Given the description of an element on the screen output the (x, y) to click on. 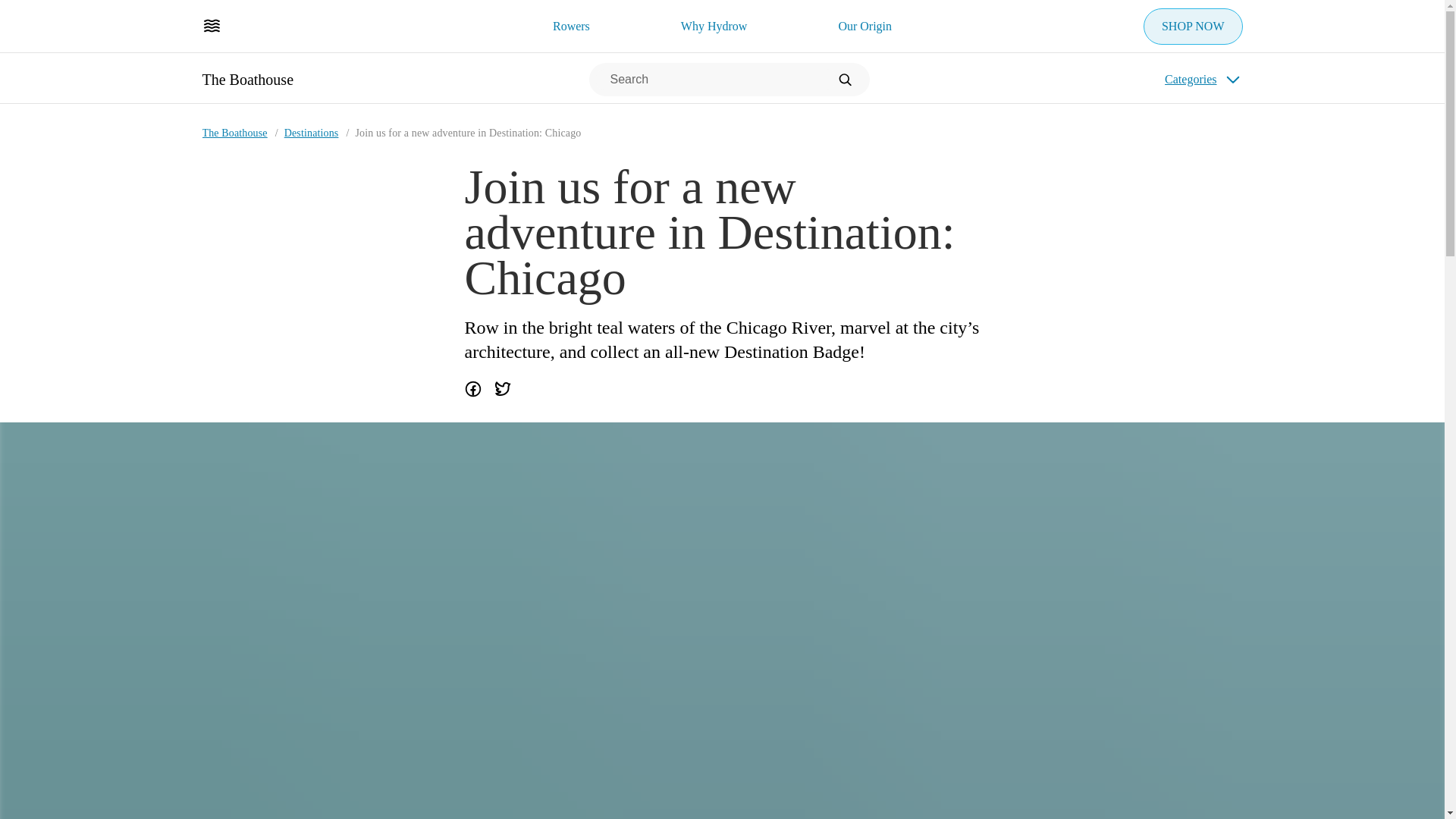
Rowers (570, 26)
Destinations (311, 133)
Categories (1203, 79)
The Boathouse (234, 133)
Why Hydrow (713, 26)
SHOP NOW (1192, 26)
The Boathouse (248, 78)
Our Origin (864, 26)
